Given the description of an element on the screen output the (x, y) to click on. 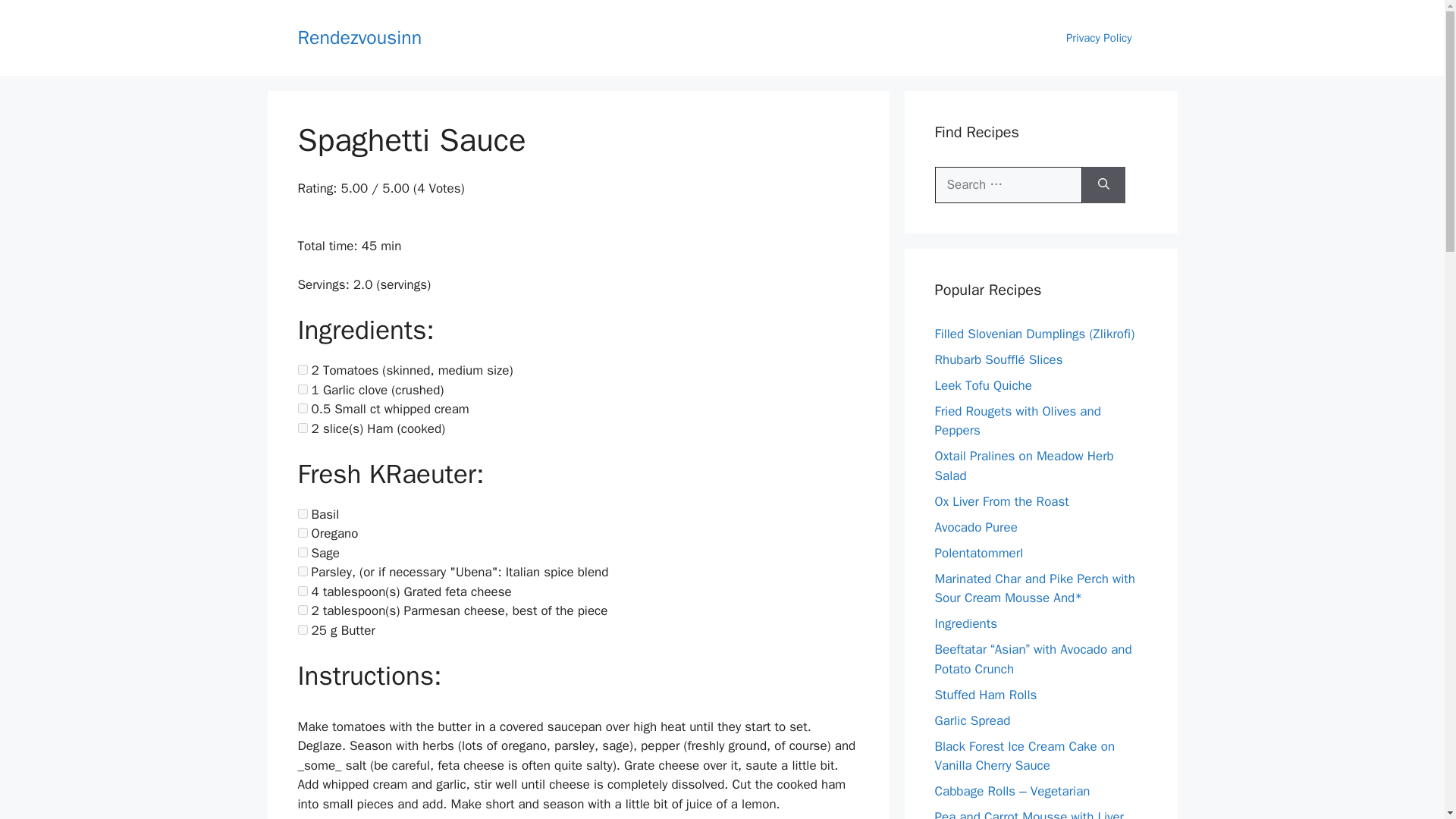
Privacy Policy (1099, 37)
  Basil (302, 513)
Black Forest Ice Cream Cake on Vanilla Cherry Sauce (1024, 755)
Ox Liver From the Roast (1001, 500)
Search for: (1007, 185)
 0.5 Small ct whipped cream (302, 408)
Avocado Puree (975, 526)
Rendezvousinn (359, 37)
Oxtail Pralines on Meadow Herb Salad (1023, 465)
Garlic Spread (972, 720)
  Sage (302, 552)
25 g Butter (302, 629)
Leek Tofu Quiche (982, 385)
Stuffed Ham Rolls (985, 694)
Polentatommerl (978, 552)
